Given the description of an element on the screen output the (x, y) to click on. 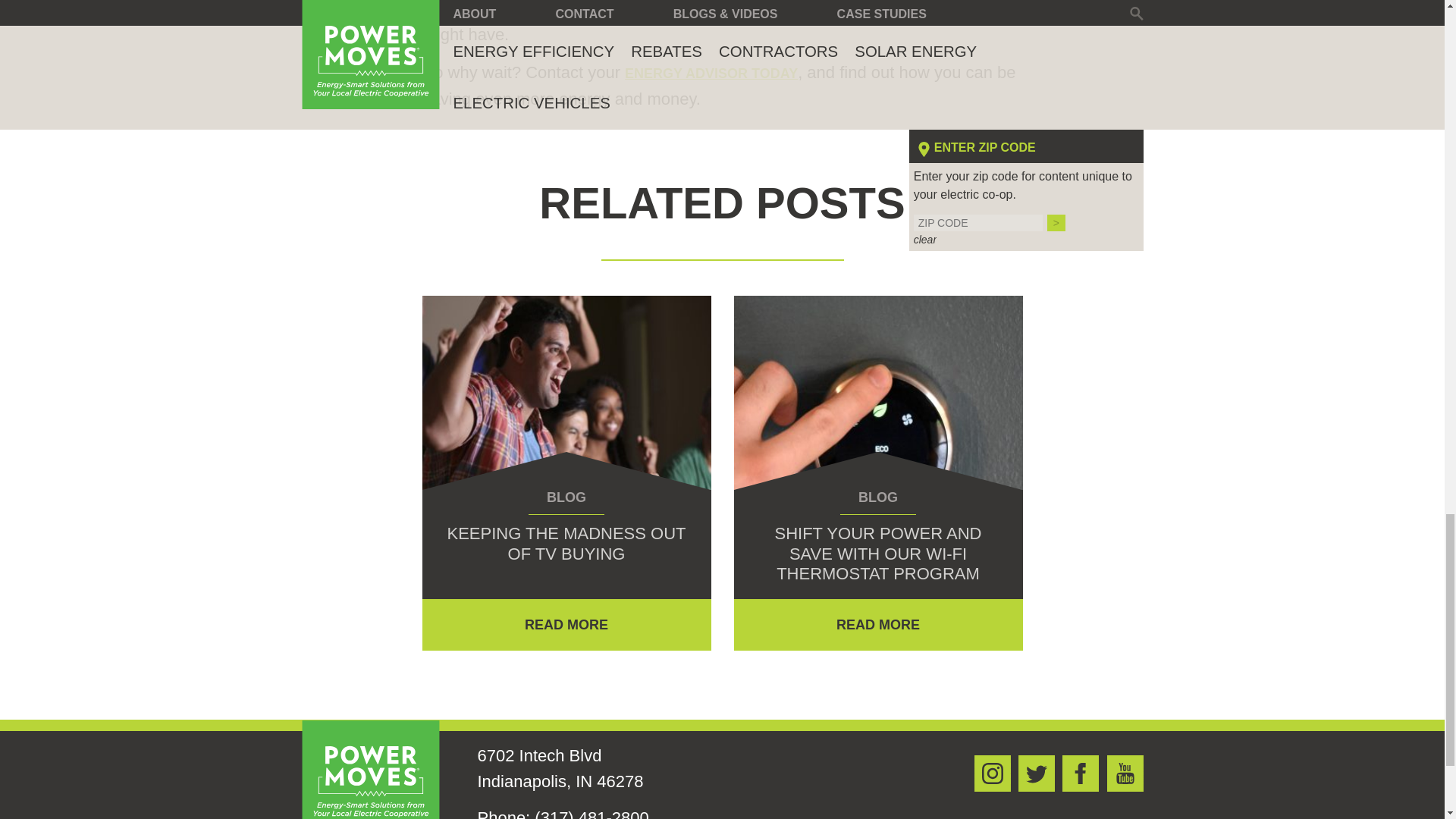
FACEBOOK ICON (1080, 773)
YOUTUBE ICON (1124, 773)
INSTAGRAM ICON (992, 773)
TWITTER ICON (1035, 773)
POWERMOVES-LOGO (370, 769)
